Given the description of an element on the screen output the (x, y) to click on. 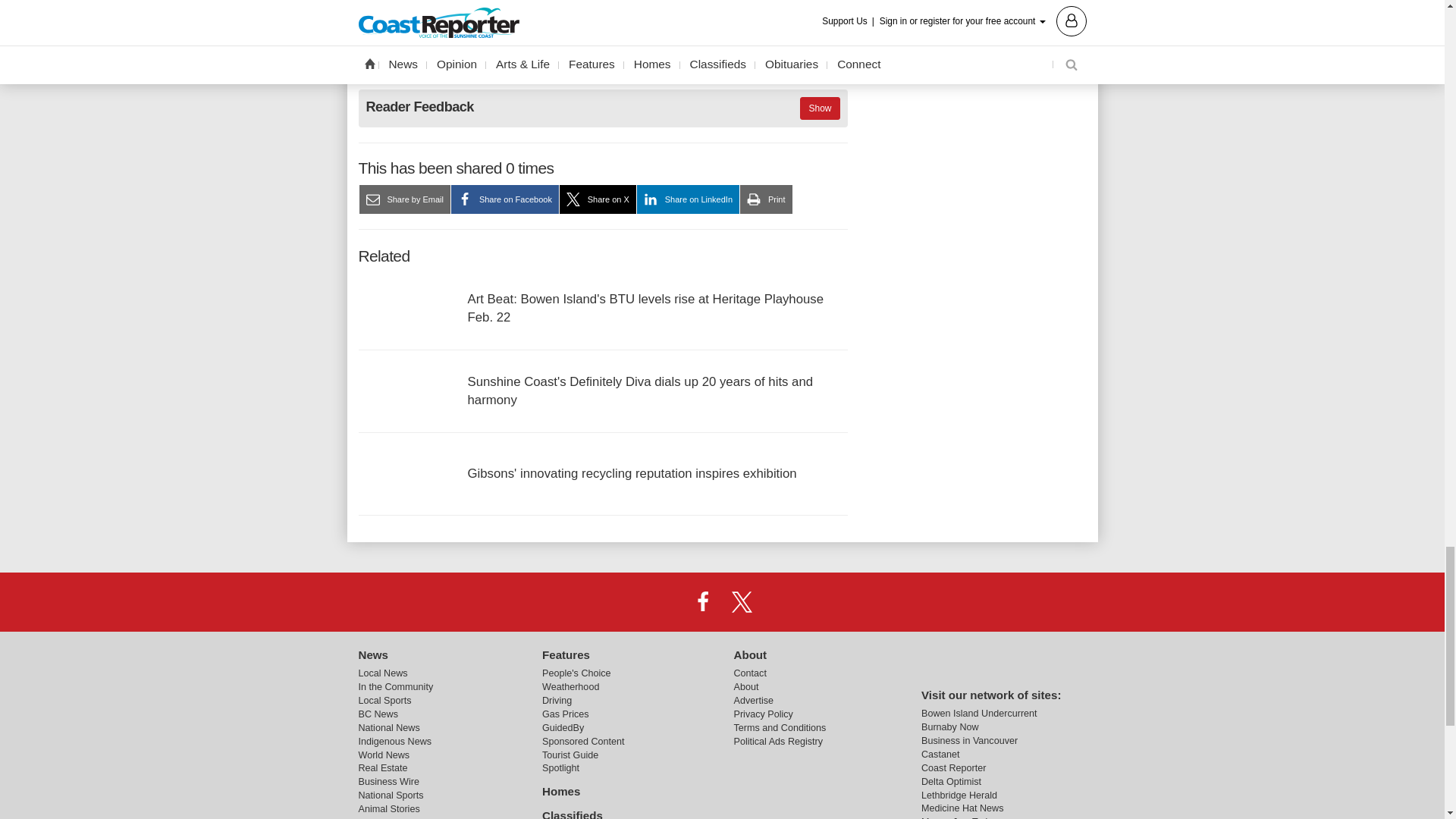
X (741, 601)
Facebook (702, 601)
